Given the description of an element on the screen output the (x, y) to click on. 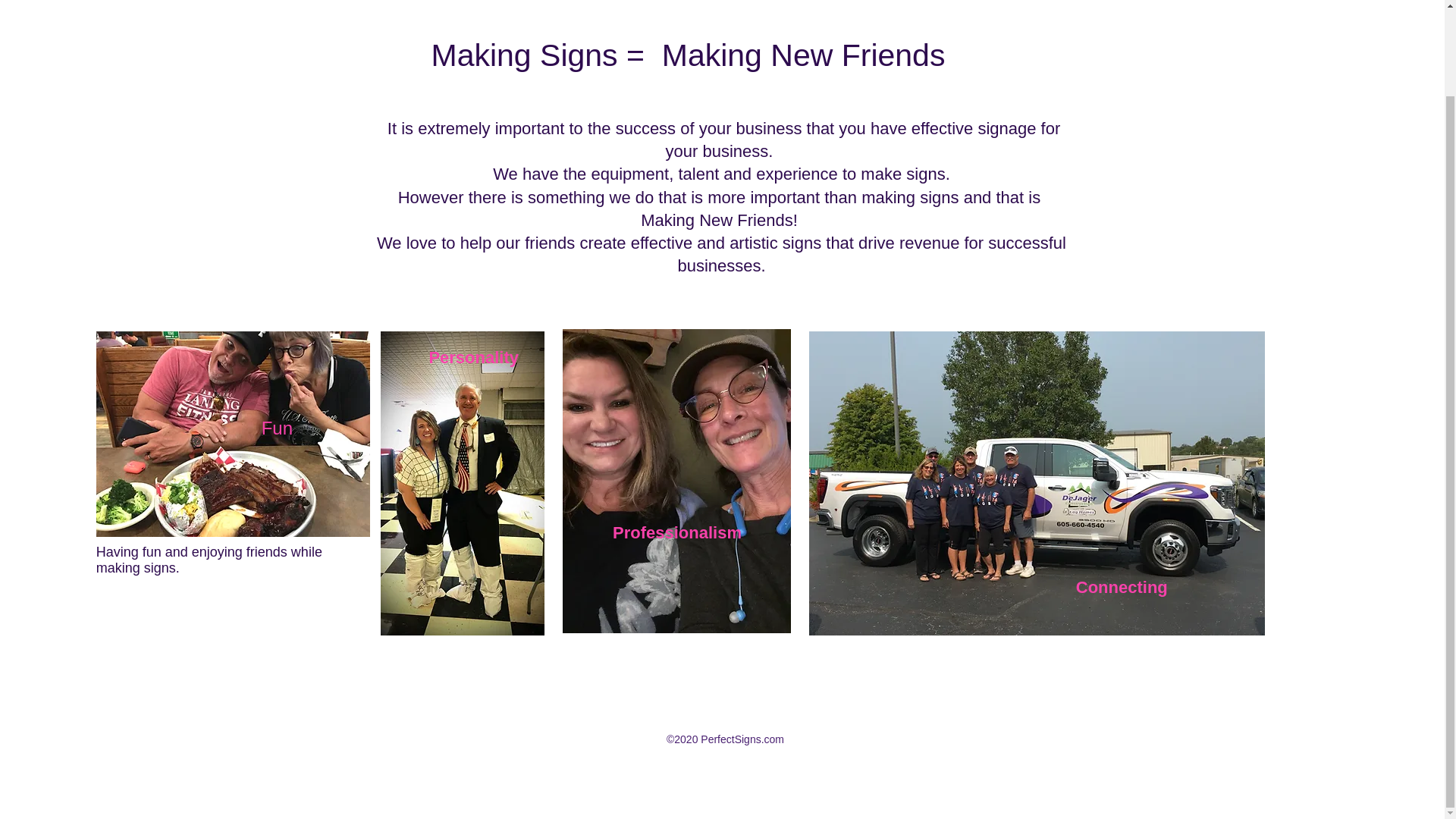
Services (1104, 20)
Meet the STAFF (1182, 20)
Home (884, 20)
Vehicle Graphics and Wraps (991, 20)
Contact Us (1343, 20)
Our Mission (1268, 20)
